Given the description of an element on the screen output the (x, y) to click on. 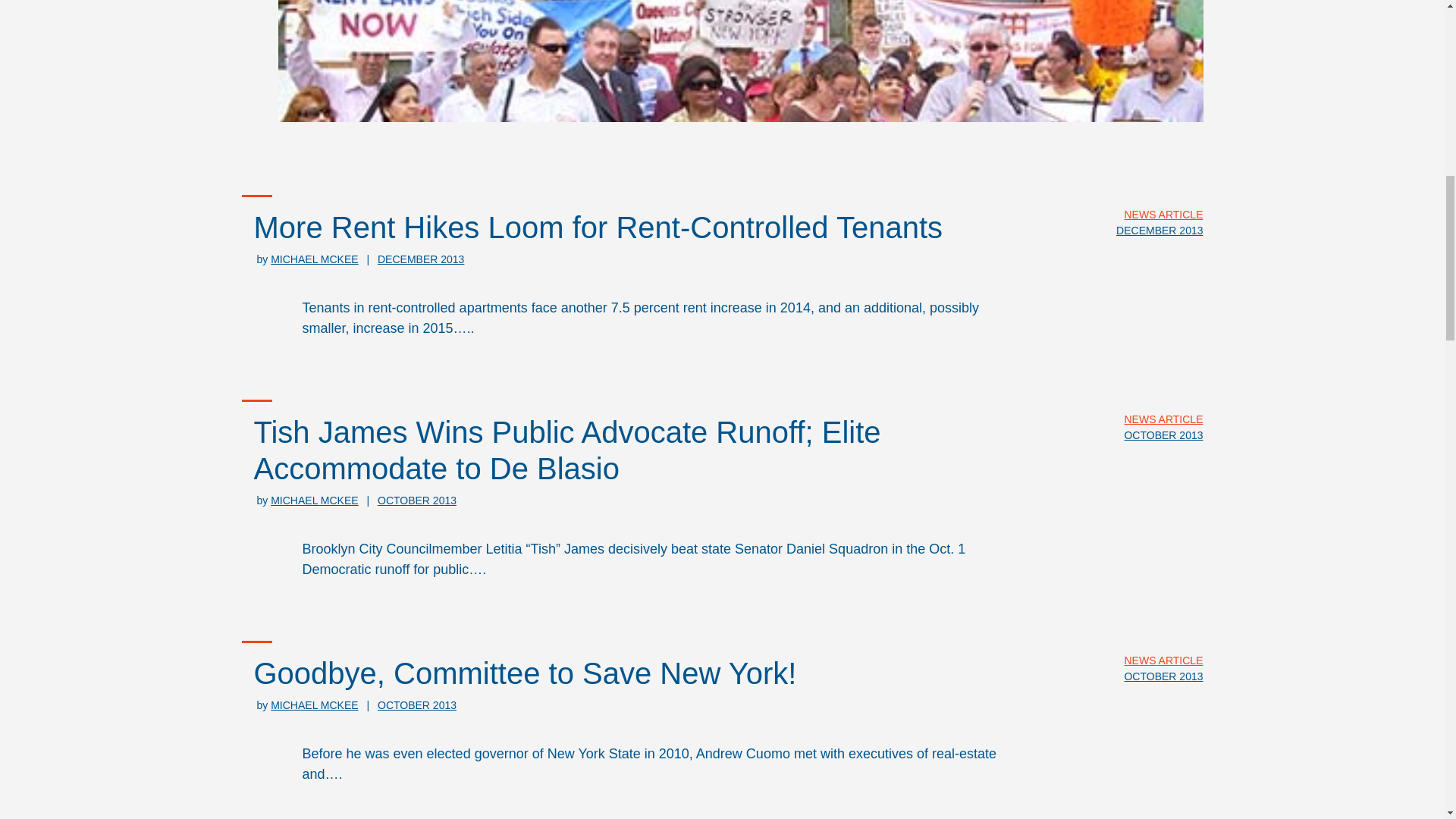
OCTOBER 2013 (1163, 435)
NEWS ARTICLE (1163, 660)
MICHAEL MCKEE (314, 705)
DECEMBER 2013 (1159, 230)
MICHAEL MCKEE (314, 259)
MICHAEL MCKEE (314, 500)
Goodbye, Committee to Save New York! (524, 673)
OCTOBER 2013 (417, 500)
DECEMBER 2013 (420, 259)
NEWS ARTICLE (1163, 214)
